Given the description of an element on the screen output the (x, y) to click on. 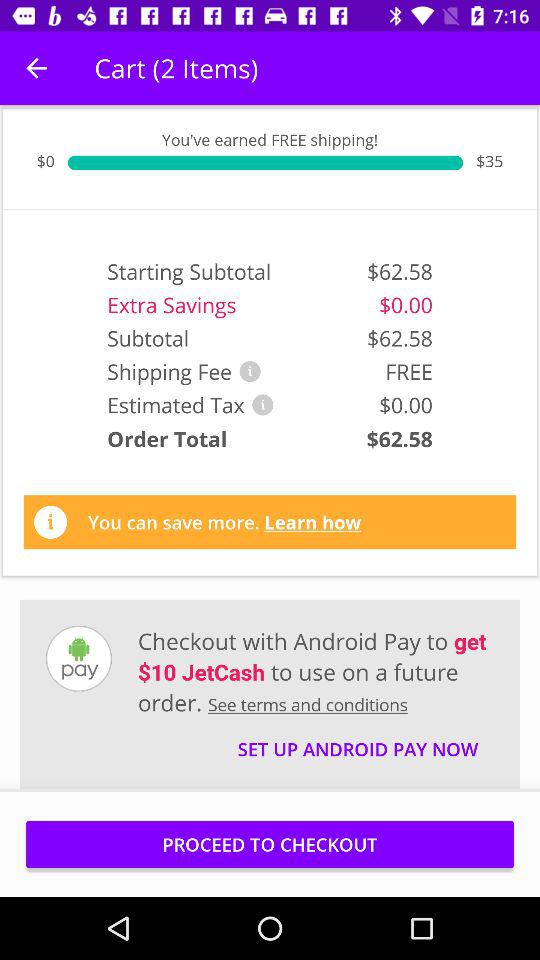
flip to set up android icon (357, 740)
